Given the description of an element on the screen output the (x, y) to click on. 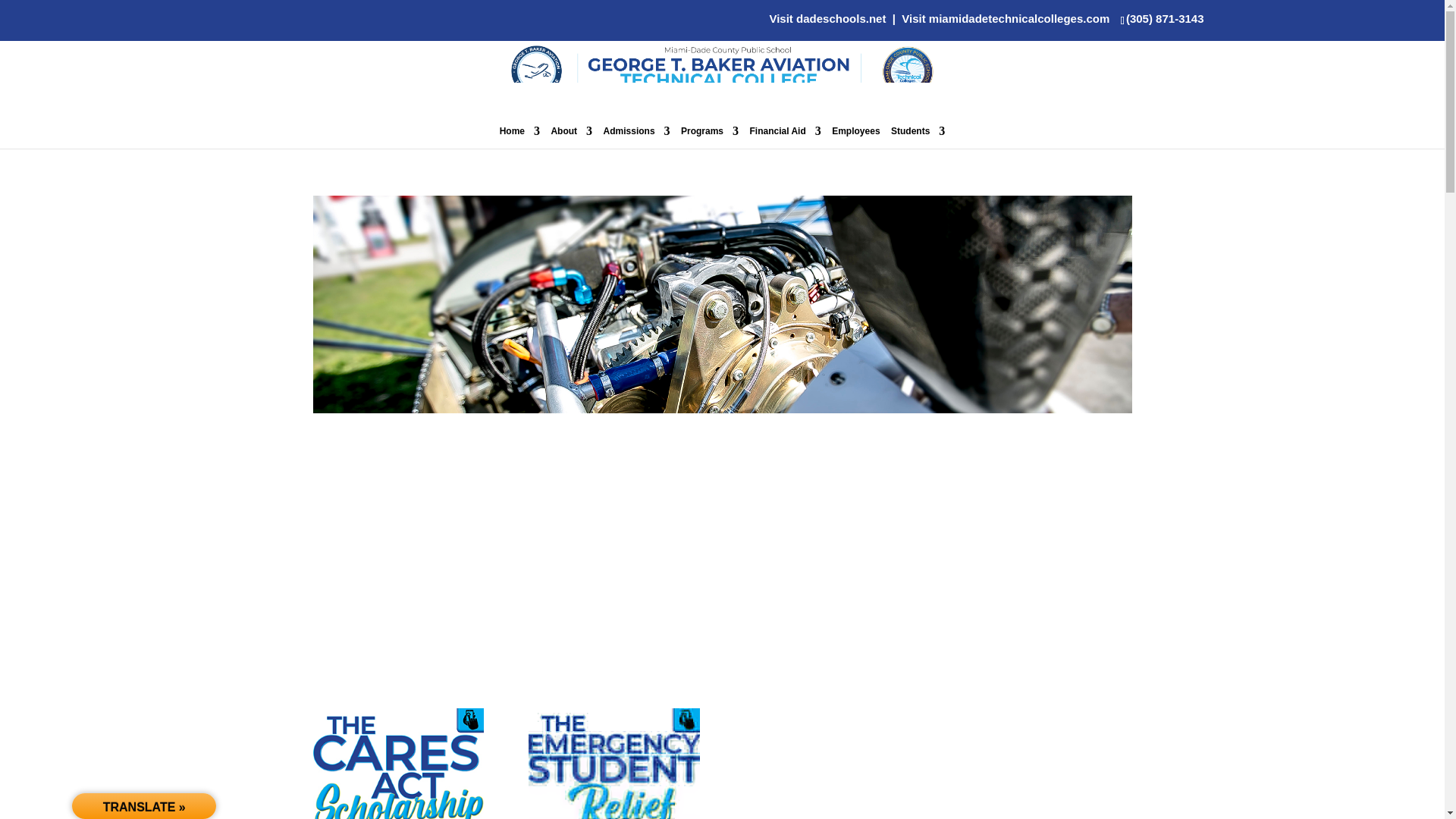
Admissions (636, 137)
The Emergency Student Relief (613, 763)
Home (519, 137)
Financial Aid (785, 137)
Web (722, 408)
Visit miamidadetechnicalcolleges.com (1005, 18)
The CARES Act Scholarship (398, 763)
About (571, 137)
Visit dadeschools.net (826, 18)
Programs (709, 137)
